Given the description of an element on the screen output the (x, y) to click on. 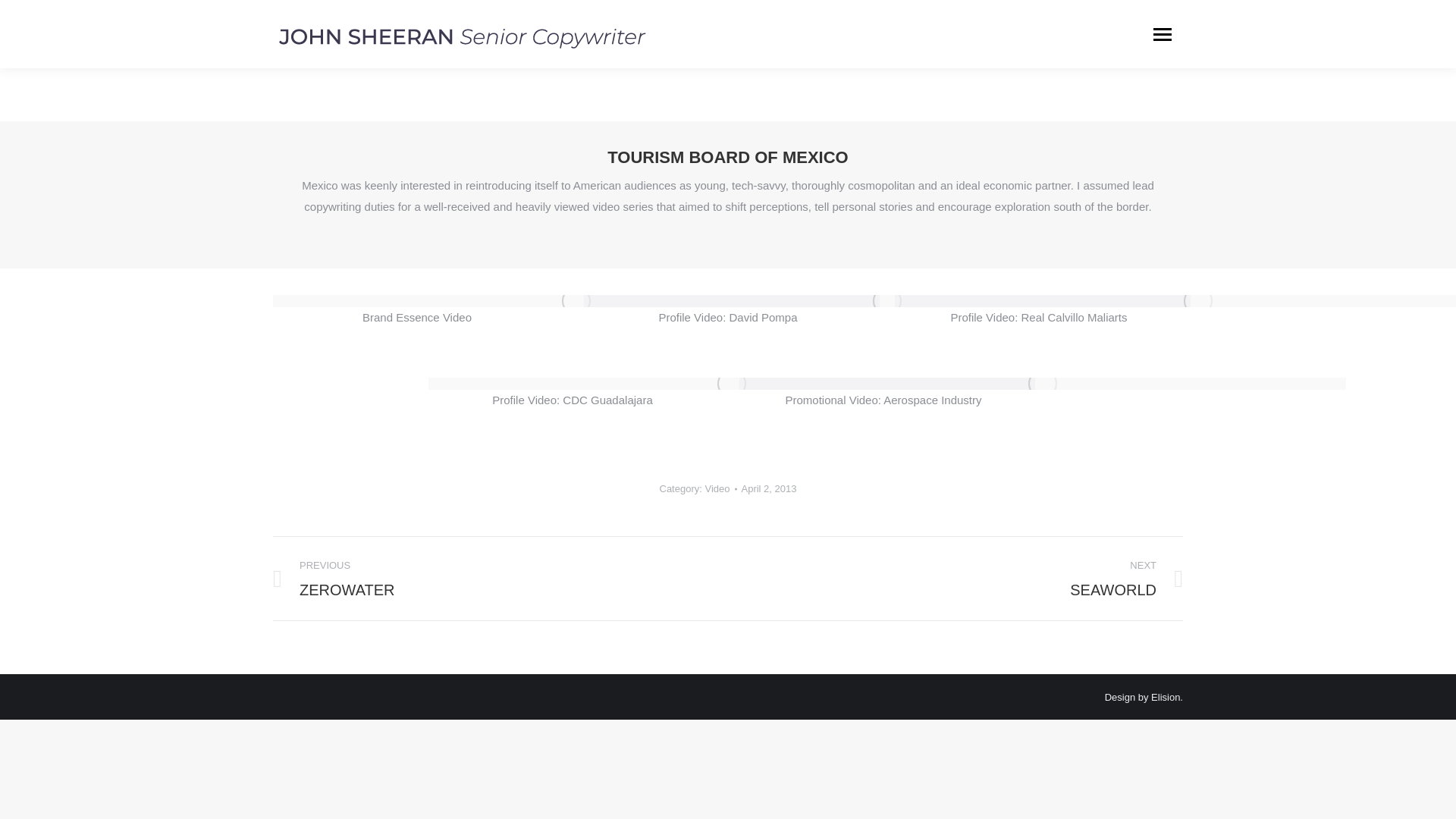
April 2, 2013 (768, 488)
Elision. (1166, 696)
8:41 pm (768, 488)
Video (488, 578)
